Given the description of an element on the screen output the (x, y) to click on. 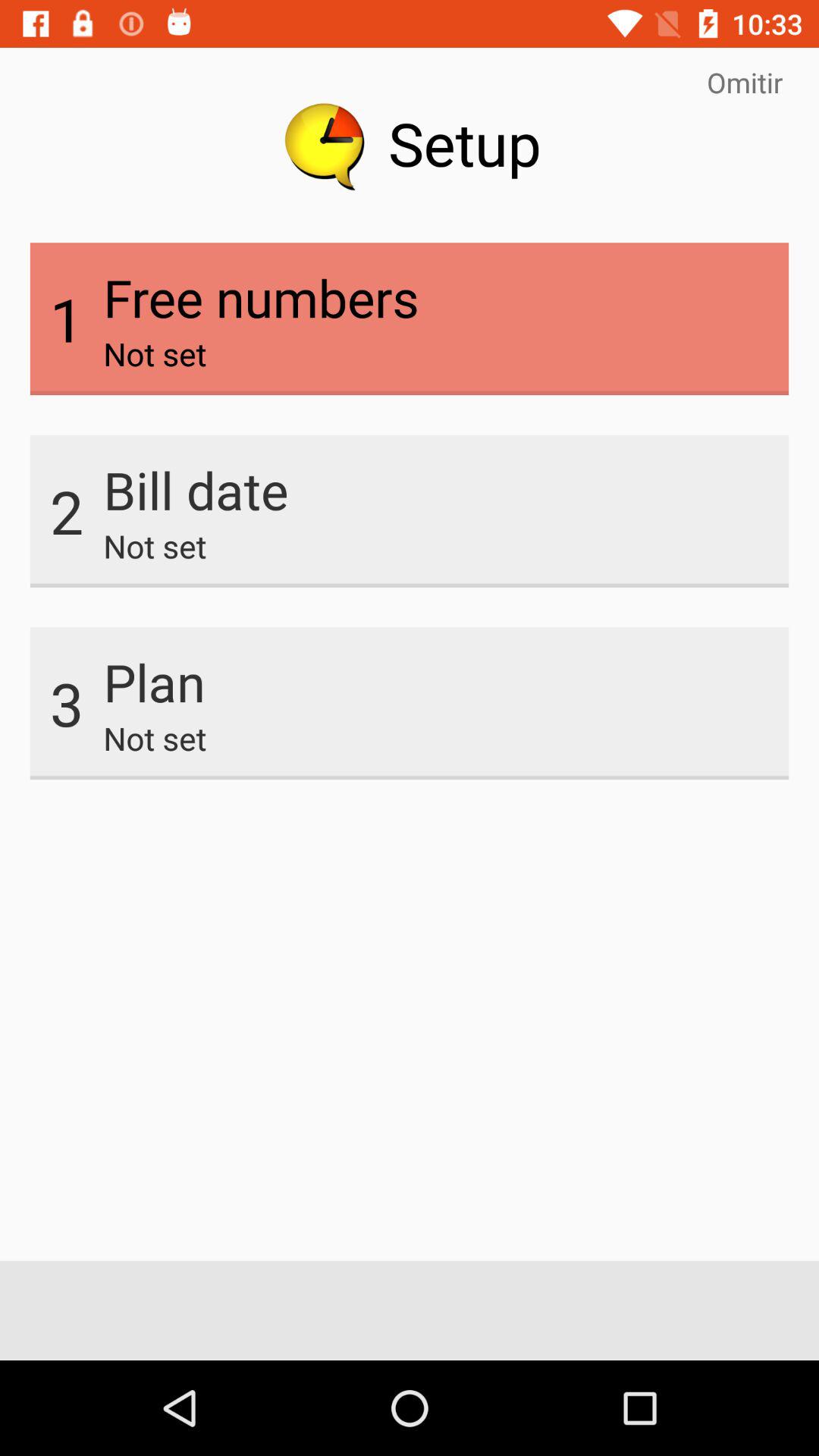
turn off icon to the right of the setup (744, 82)
